Given the description of an element on the screen output the (x, y) to click on. 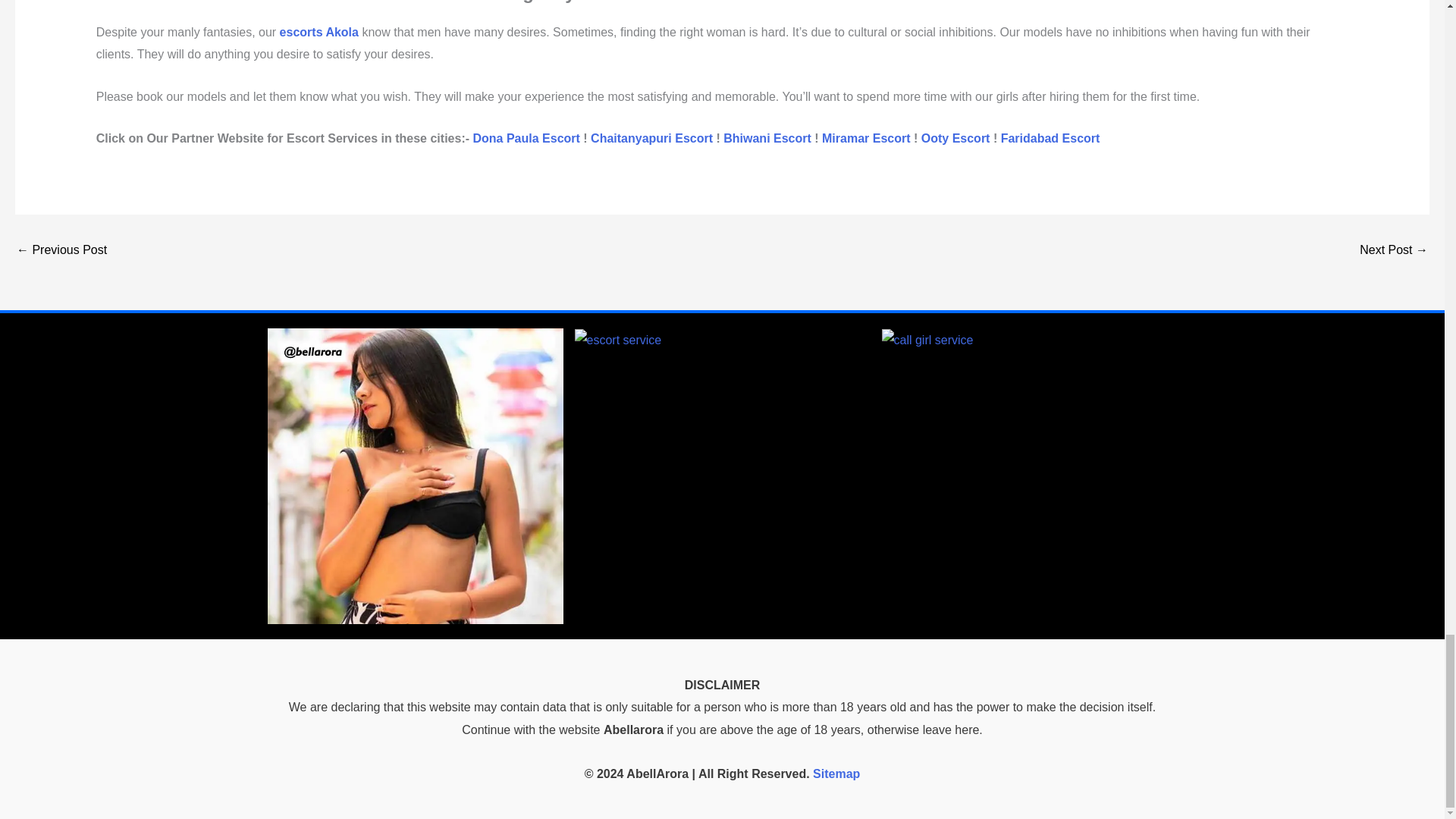
Chaitanyapuri Escort (652, 137)
Faridabad Escort (1050, 137)
Miramar Escort (866, 137)
Bhiwani Escort (766, 137)
Ooty Escort (955, 137)
Sitemap (836, 773)
Dona Paula Escort (525, 137)
escorts Akola (318, 31)
